Given the description of an element on the screen output the (x, y) to click on. 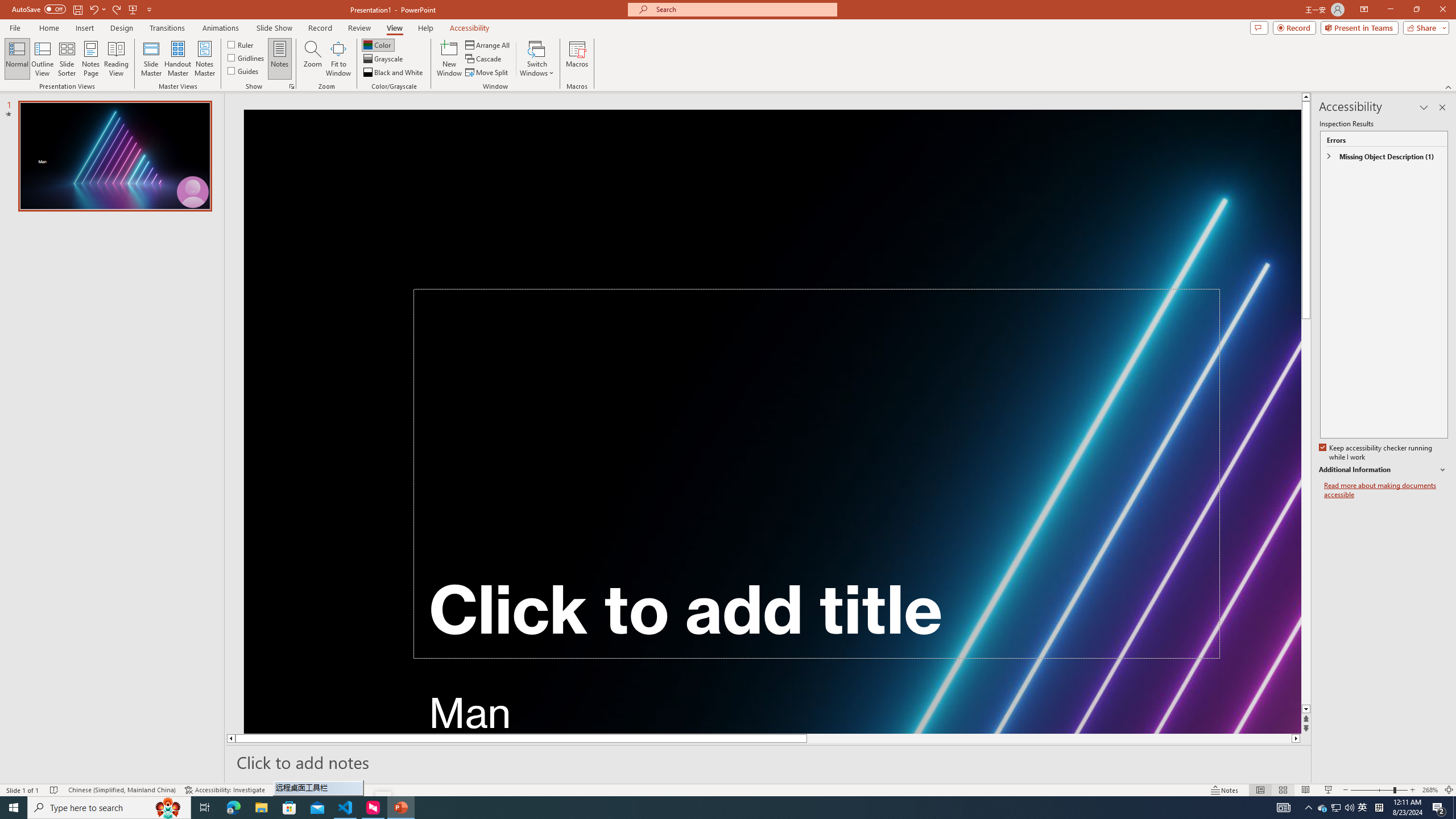
Arrange All (488, 44)
Notes (279, 58)
Notes Page (90, 58)
Slide Master (151, 58)
Ruler (241, 44)
